Given the description of an element on the screen output the (x, y) to click on. 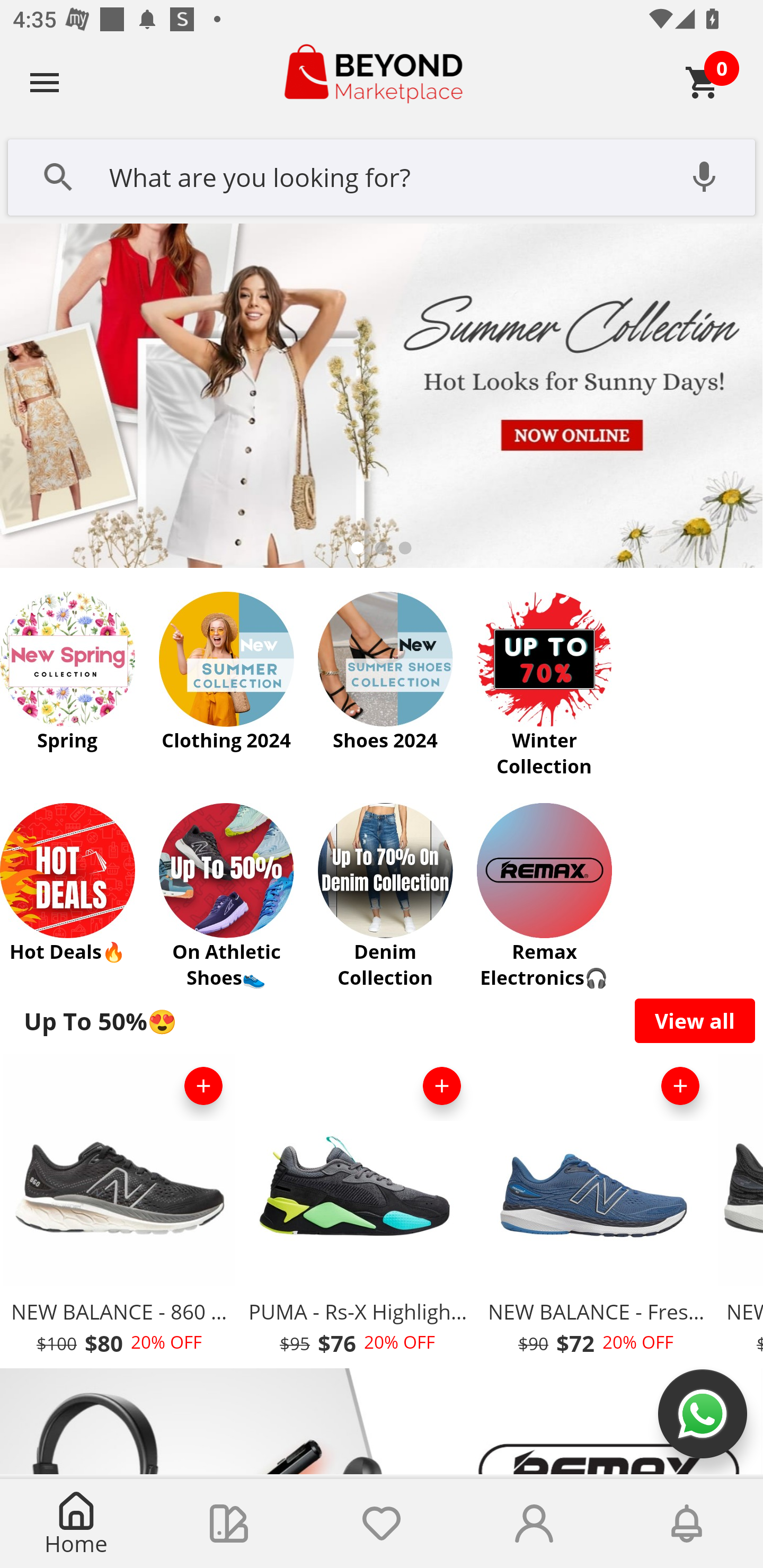
Navigate up (44, 82)
What are you looking for? (381, 175)
View all (694, 1020)
NEW BALANCE - 860 Running Shoes $100 $80 20% OFF (119, 1209)
Collections (228, 1523)
Wishlist (381, 1523)
Account (533, 1523)
Notifications (686, 1523)
